Given the description of an element on the screen output the (x, y) to click on. 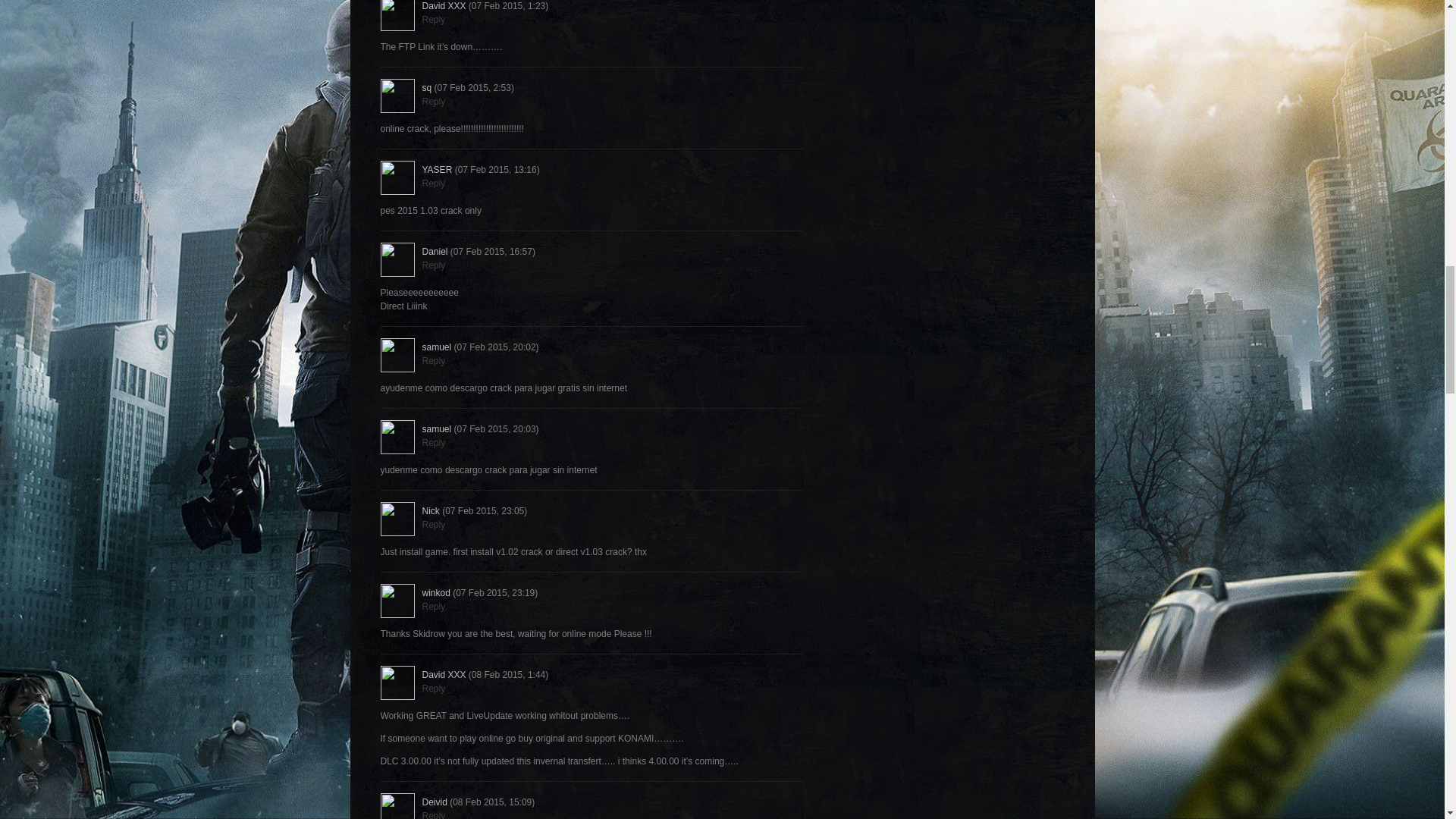
Reply (433, 19)
